Given the description of an element on the screen output the (x, y) to click on. 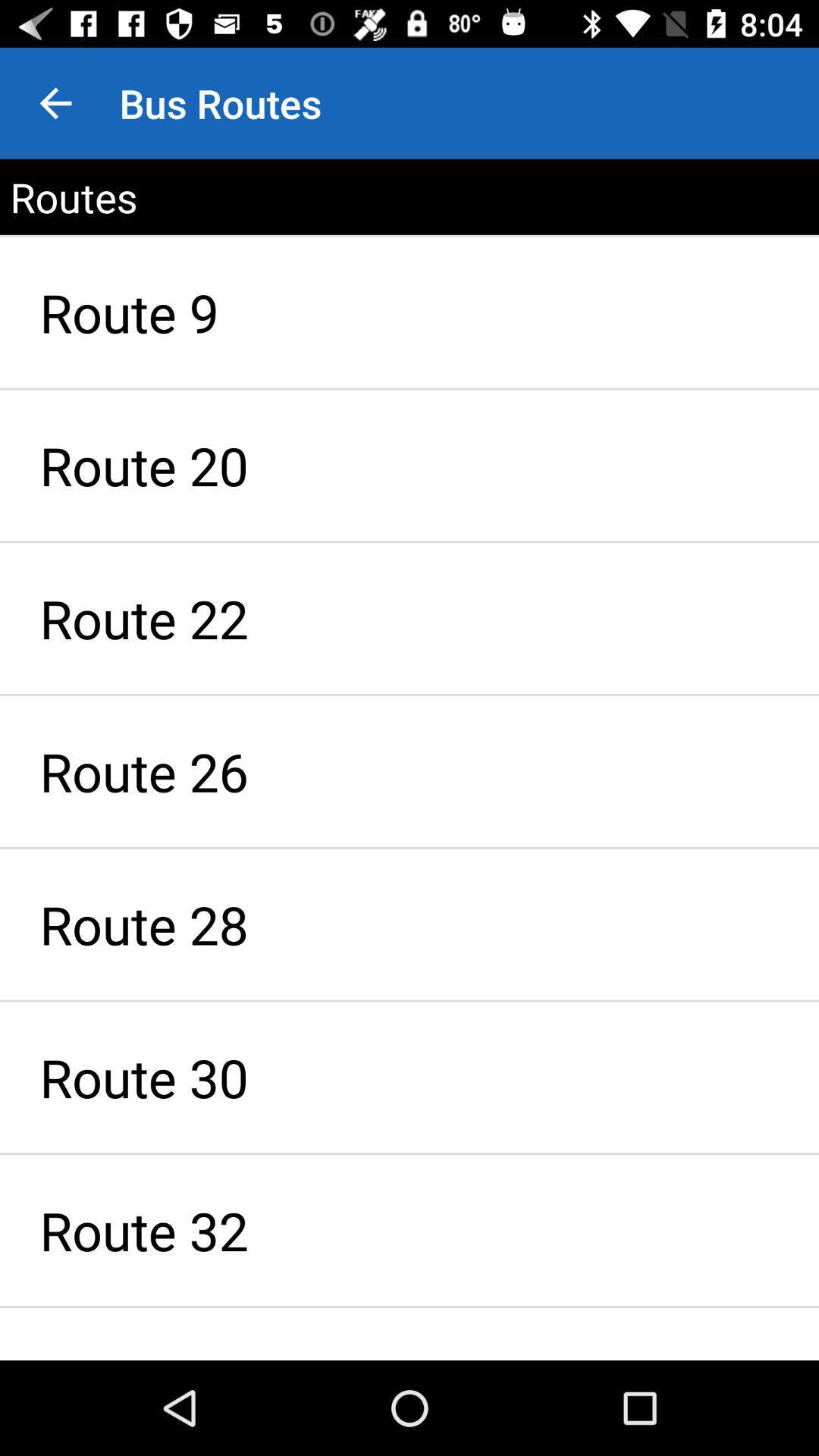
launch the app next to the bus routes item (55, 103)
